Given the description of an element on the screen output the (x, y) to click on. 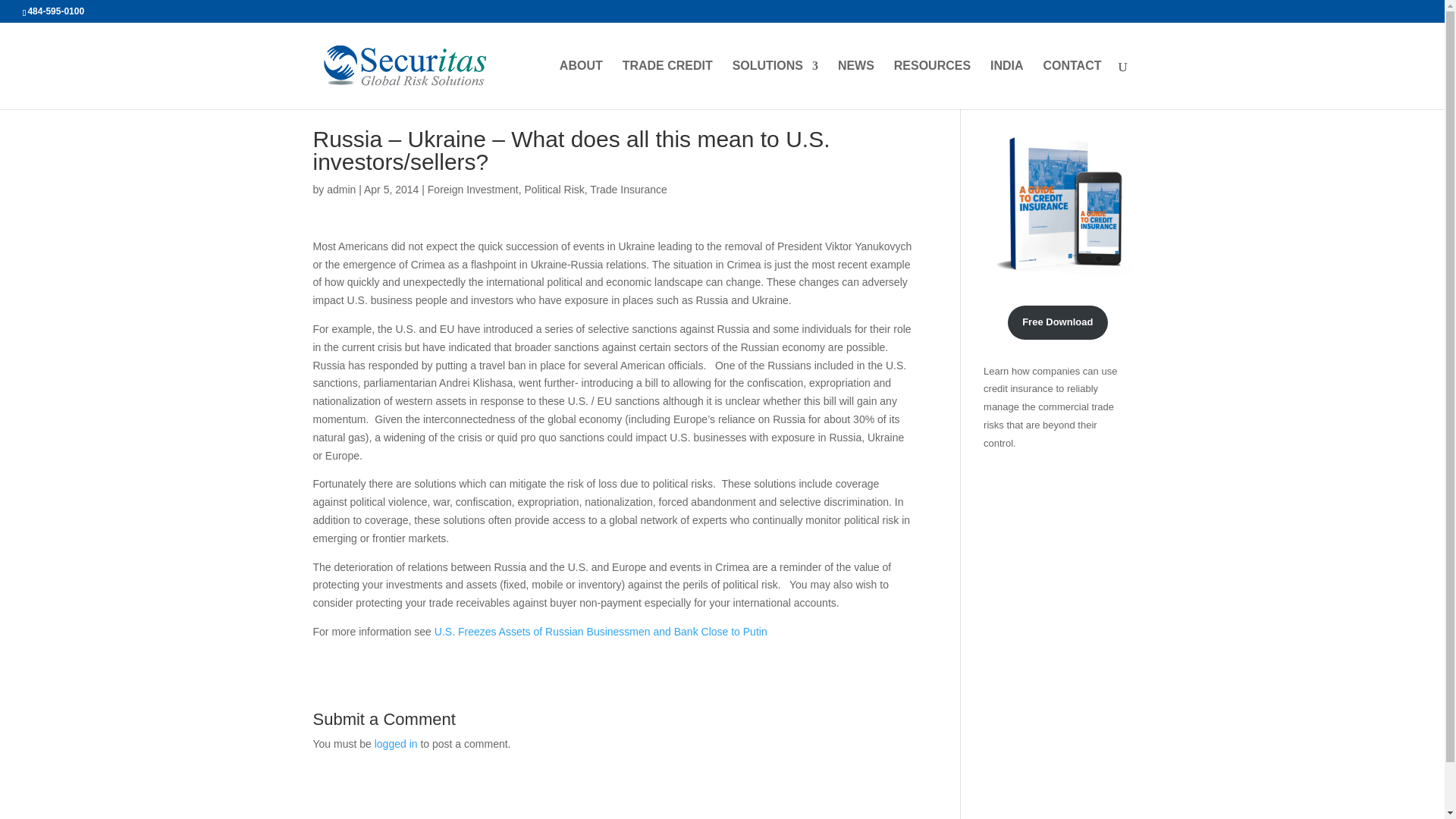
Posts by admin (340, 189)
Political Risk (553, 189)
TRADE CREDIT (668, 84)
Foreign Investment (473, 189)
ABOUT (580, 84)
Trade Insurance (627, 189)
logged in (395, 743)
SOLUTIONS (775, 84)
CONTACT (1071, 84)
